Given the description of an element on the screen output the (x, y) to click on. 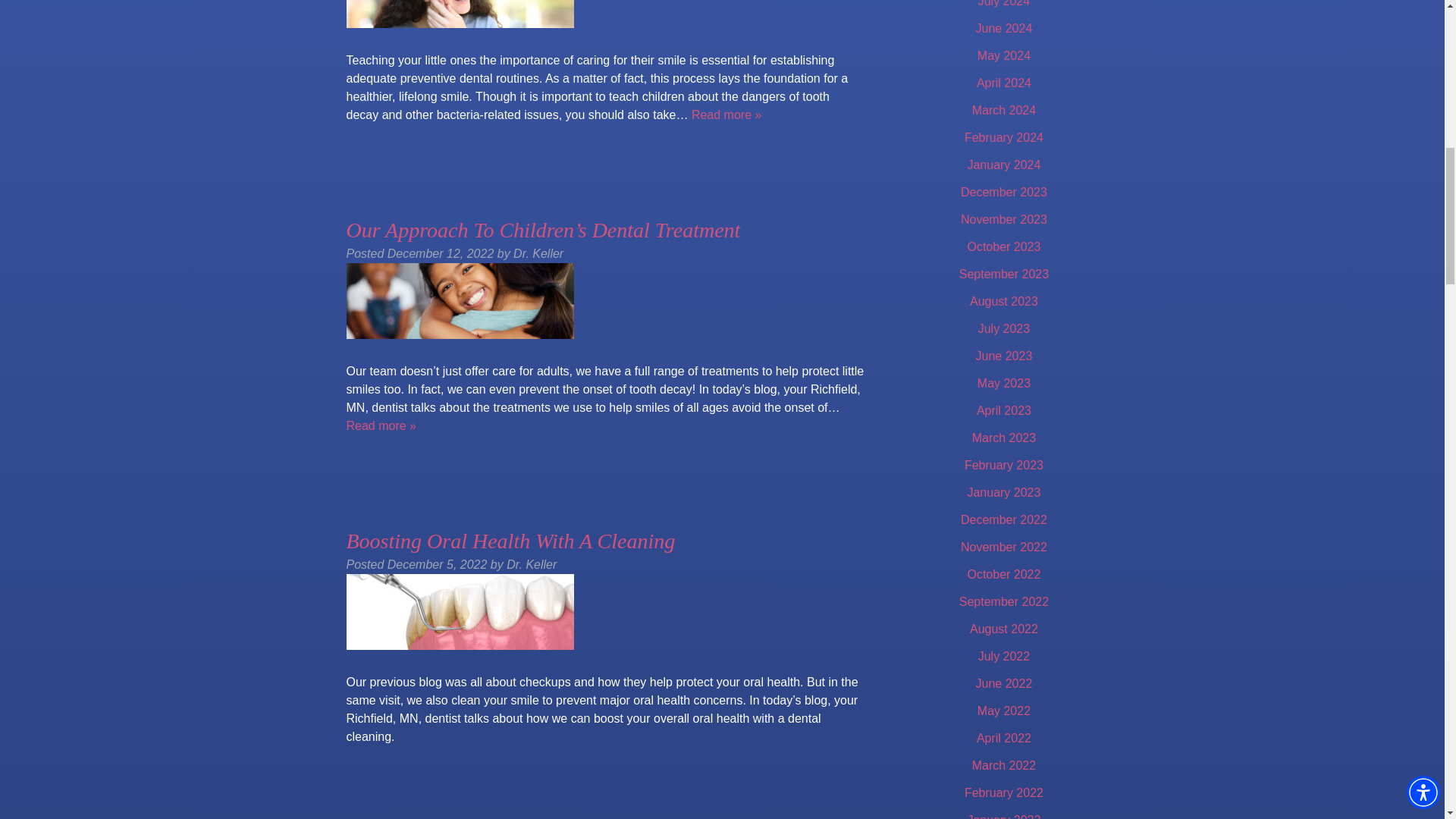
July 2024 (1004, 3)
Boosting Oral Health With A Cleaning (510, 540)
April 2024 (1003, 82)
Boosting Oral Health With A Cleaning (510, 540)
Read Take Precautions Against TMJ Disorder (726, 114)
May 2024 (1003, 55)
June 2024 (1003, 28)
